Given the description of an element on the screen output the (x, y) to click on. 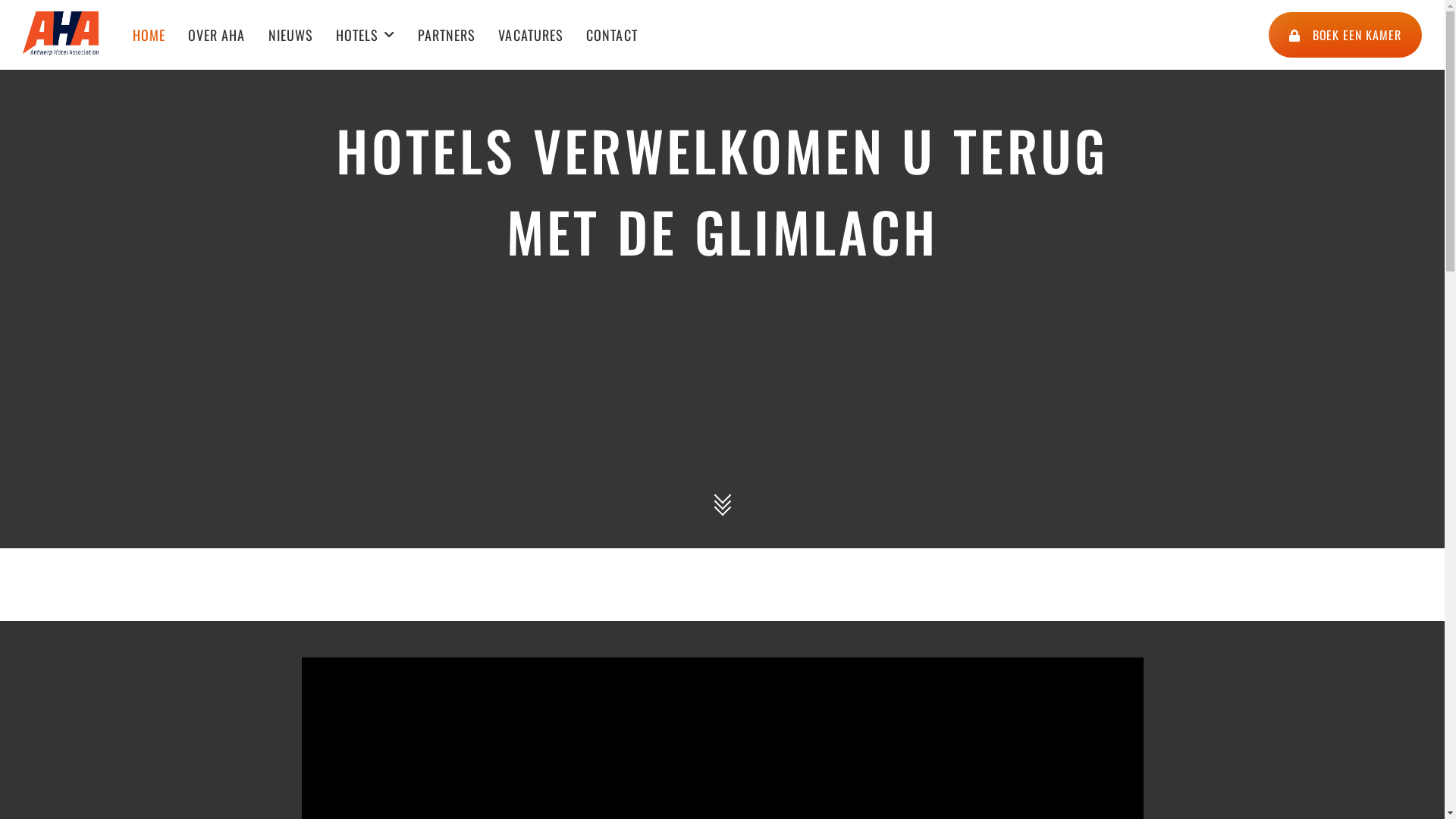
CONTACT Element type: text (611, 34)
NIEUWS Element type: text (290, 34)
VACATURES Element type: text (530, 34)
PARTNERS Element type: text (446, 34)
Antwerp Hotel Association Element type: hover (72, 7)
BOEK EEN KAMER Element type: text (1344, 34)
Antwerp Hotel Association Element type: hover (216, 7)
OVER AHA Element type: text (216, 34)
HOME Element type: text (148, 34)
HOTELS Element type: text (365, 34)
